Given the description of an element on the screen output the (x, y) to click on. 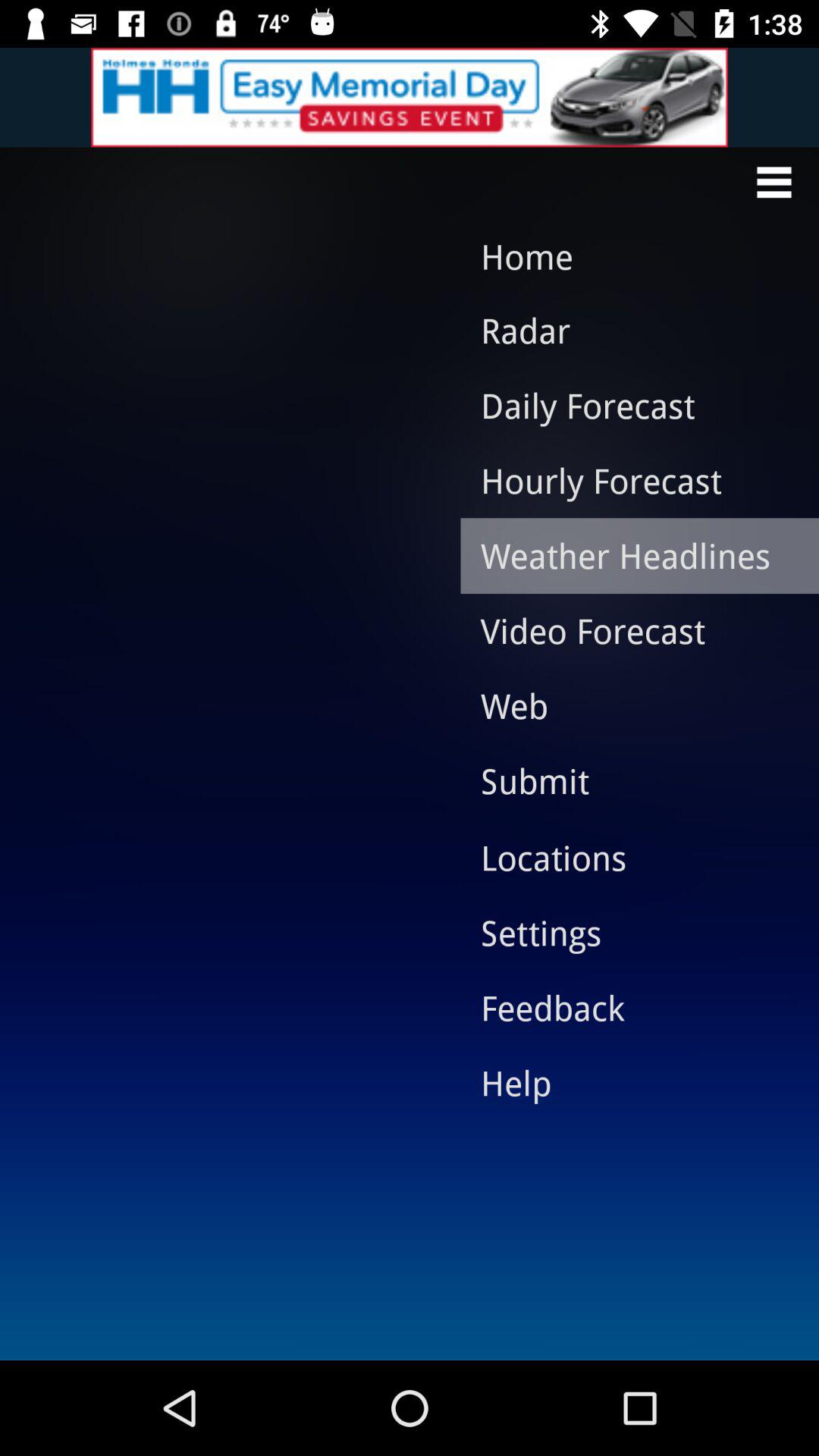
view advertisement in new app (409, 97)
